Given the description of an element on the screen output the (x, y) to click on. 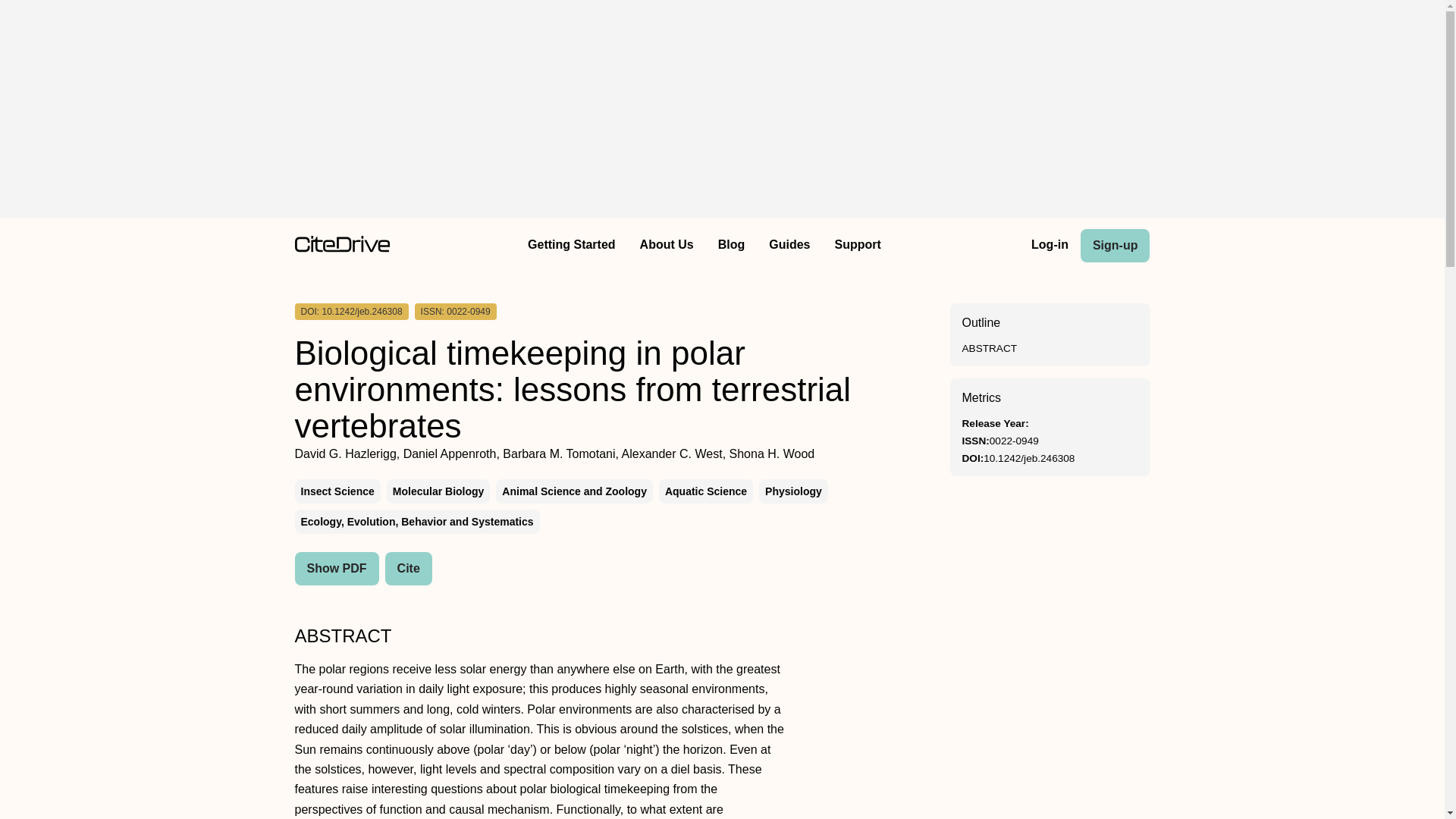
Getting Started (571, 245)
Guides (789, 245)
Cite (408, 568)
Blog (731, 245)
Show PDF (336, 568)
Log-in (1049, 245)
Support (857, 245)
ABSTRACT (988, 348)
Sign-up (1115, 245)
About Us (666, 245)
